Given the description of an element on the screen output the (x, y) to click on. 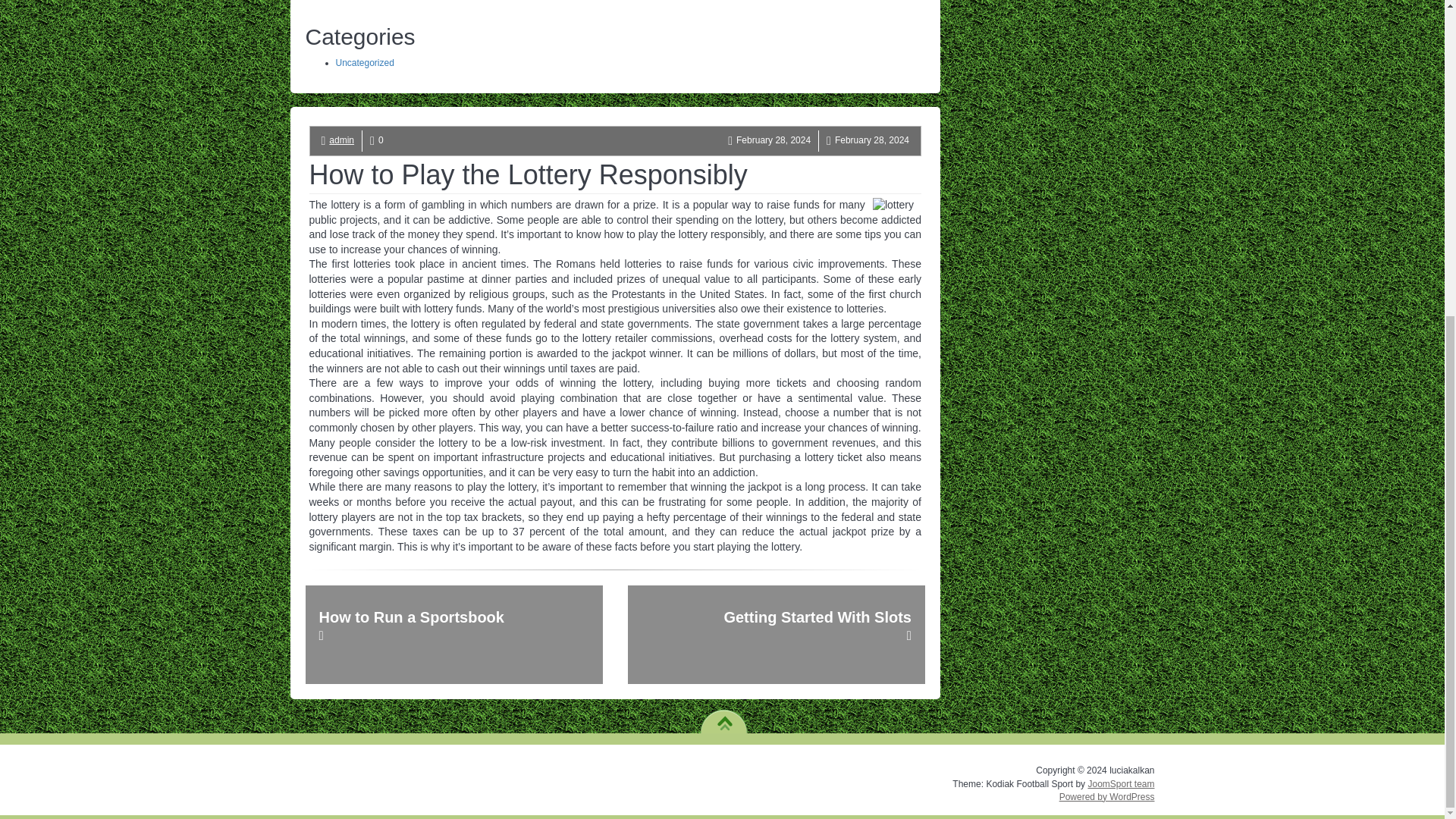
Getting Started With Slots (775, 634)
admin (341, 140)
 The Best WordPress Sport Plugin for your league and club  (1120, 783)
How to Run a Sportsbook (453, 634)
Uncategorized (363, 62)
